Given the description of an element on the screen output the (x, y) to click on. 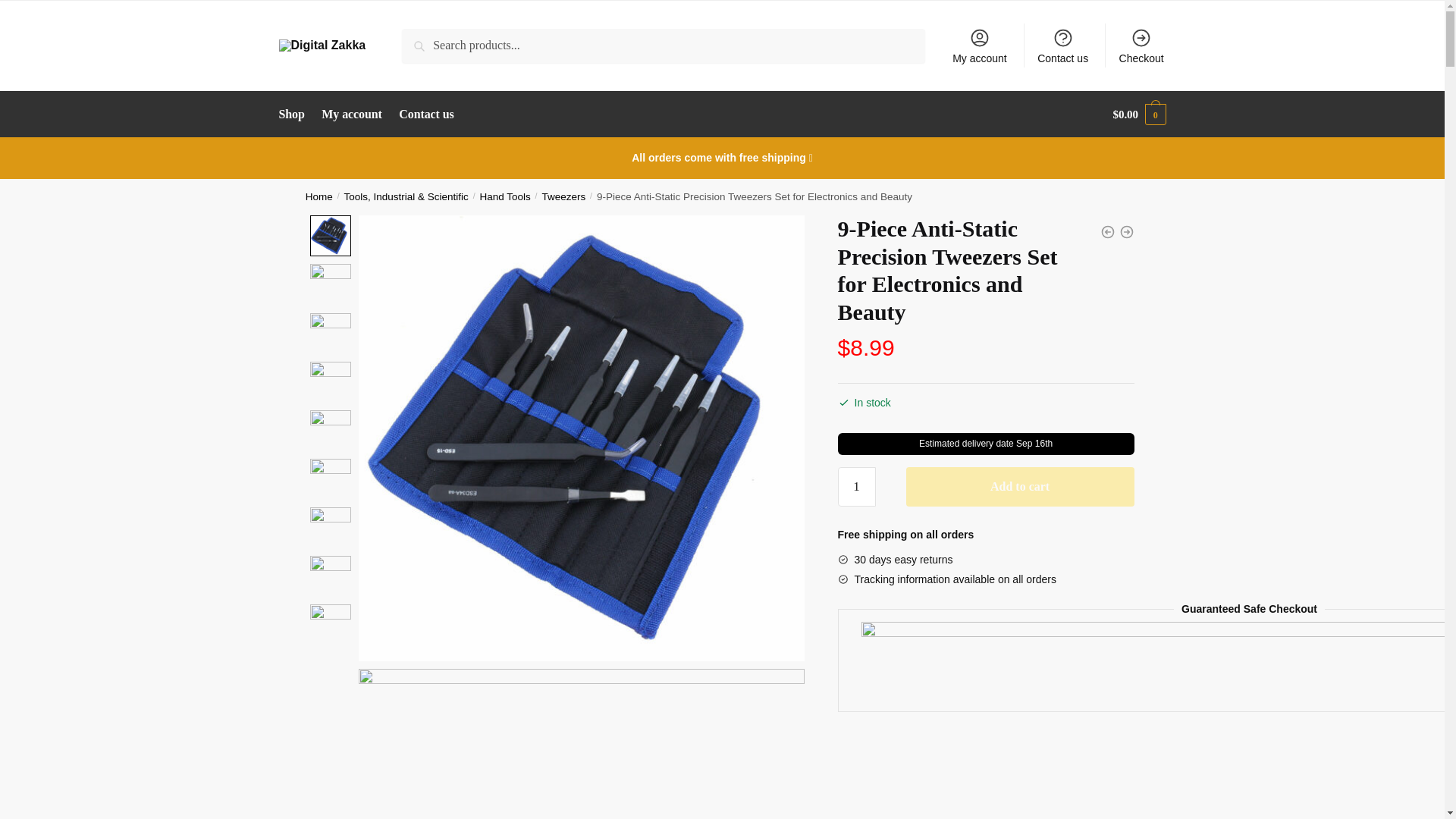
Contact us (1062, 45)
Contact us (427, 114)
0 (330, 526)
0 (330, 235)
Tweezers (563, 196)
My account (979, 45)
My account (351, 114)
click to zoom-in (581, 744)
0 (330, 381)
0 (330, 430)
